Given the description of an element on the screen output the (x, y) to click on. 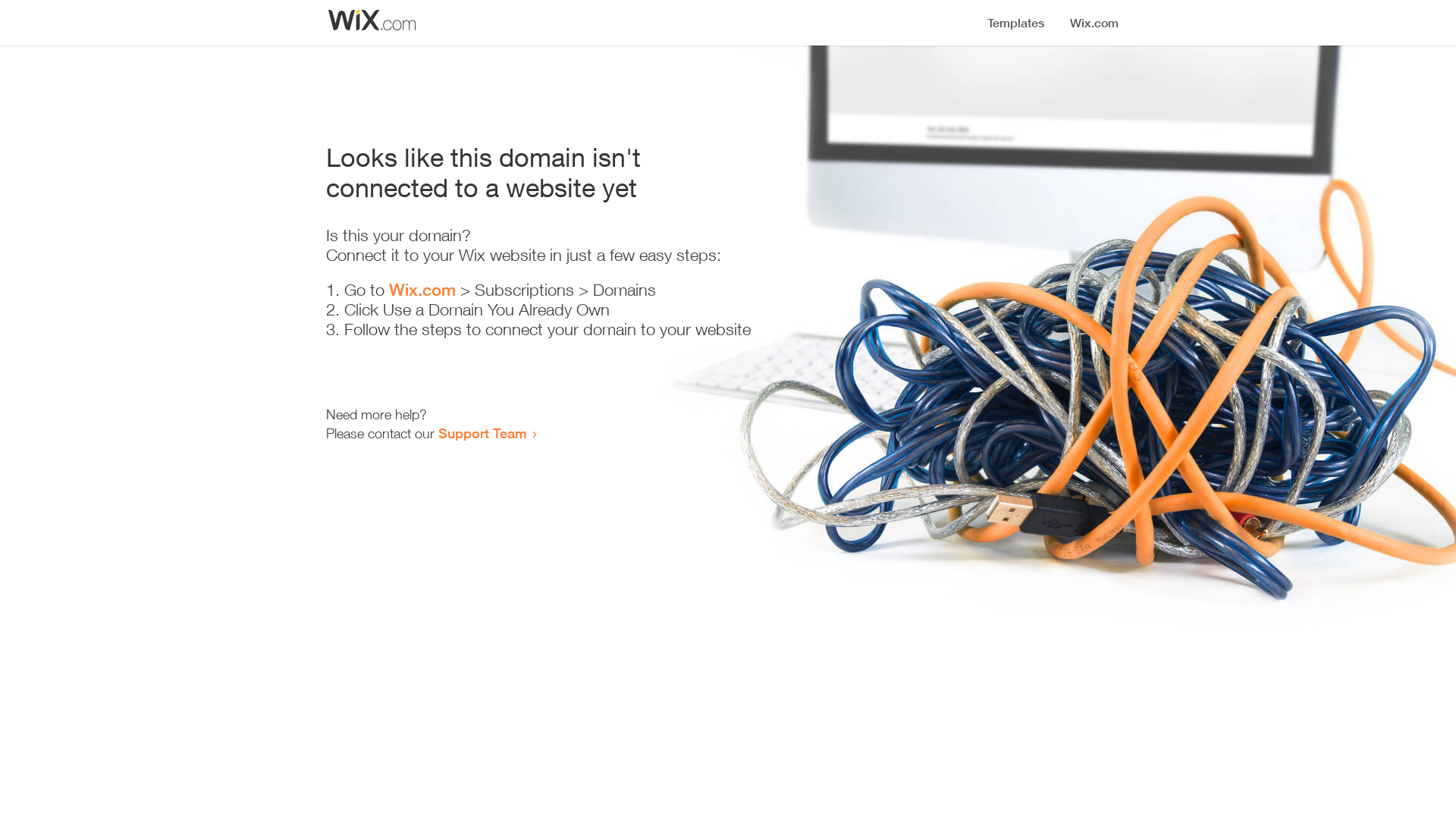
Wix.com Element type: text (422, 289)
Support Team Element type: text (482, 432)
